Given the description of an element on the screen output the (x, y) to click on. 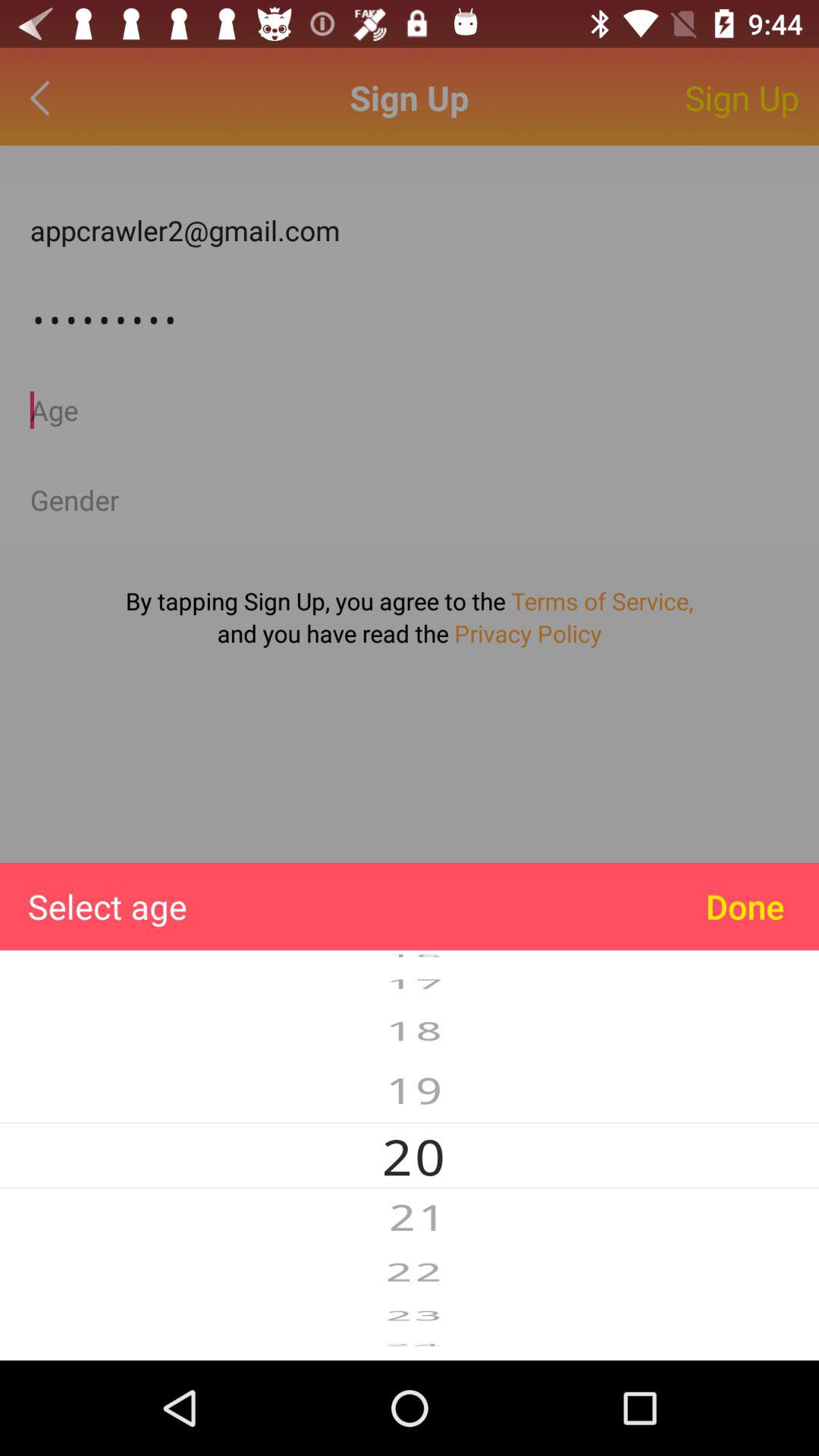
change gender (409, 499)
